Given the description of an element on the screen output the (x, y) to click on. 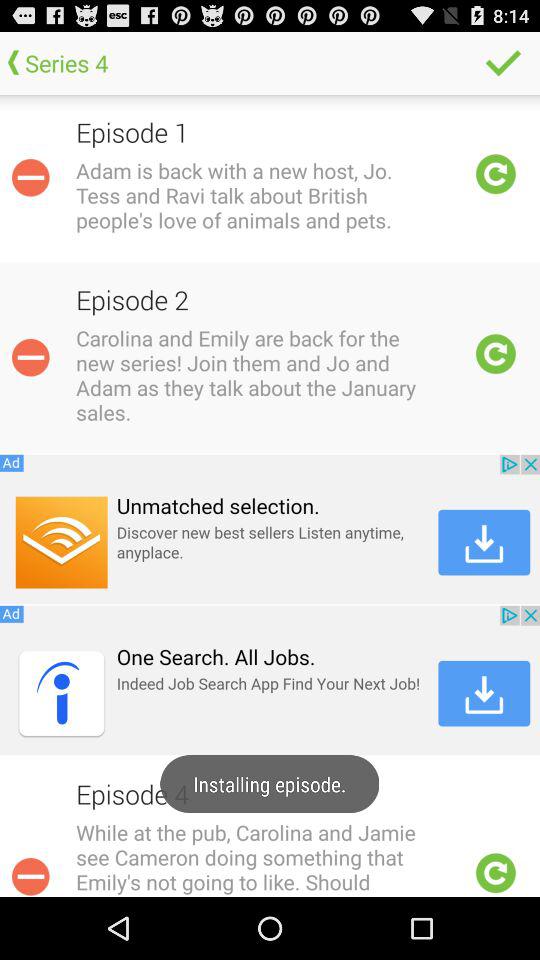
hide description (30, 177)
